Given the description of an element on the screen output the (x, y) to click on. 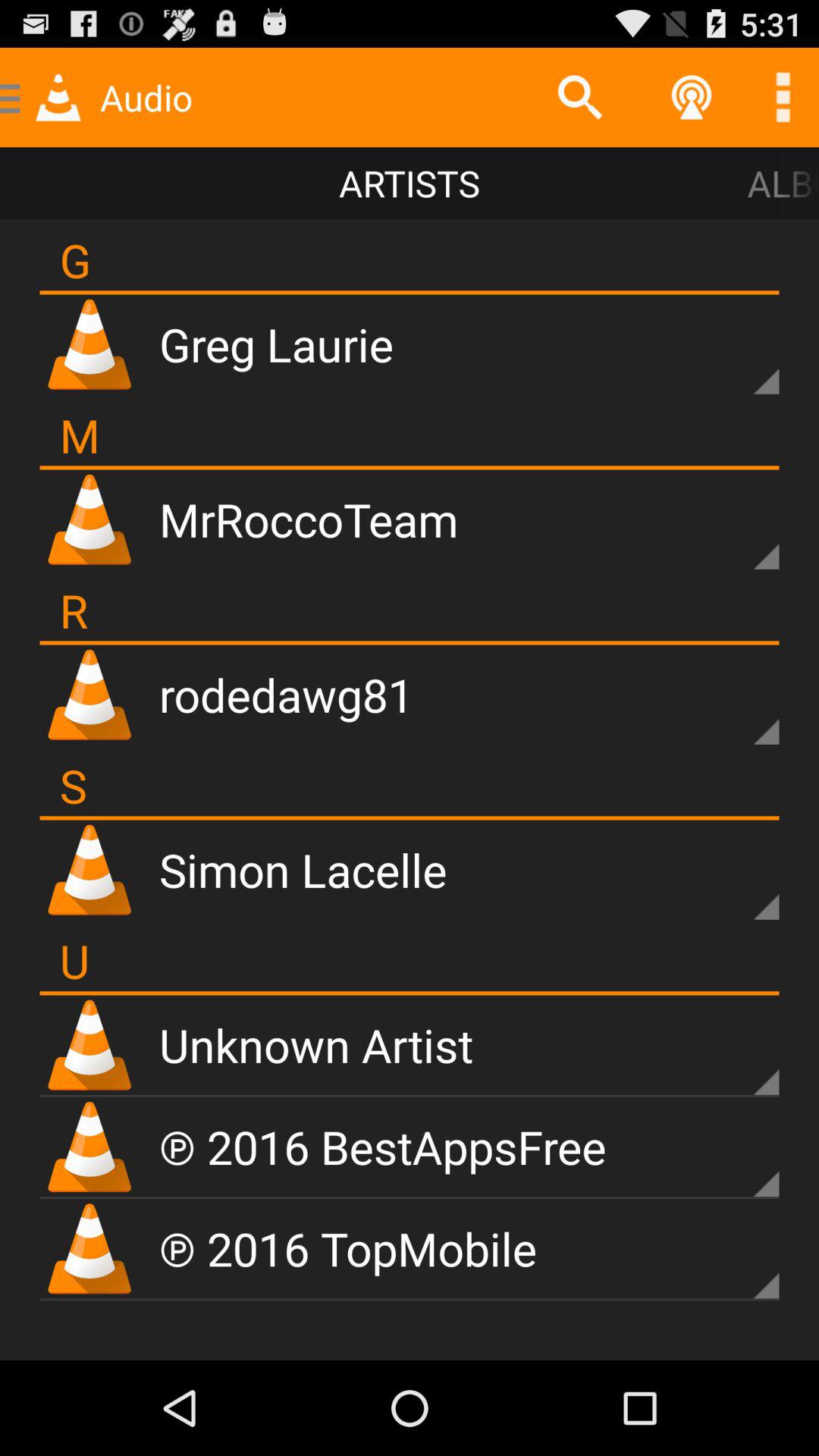
press the icon below the u item (409, 993)
